Given the description of an element on the screen output the (x, y) to click on. 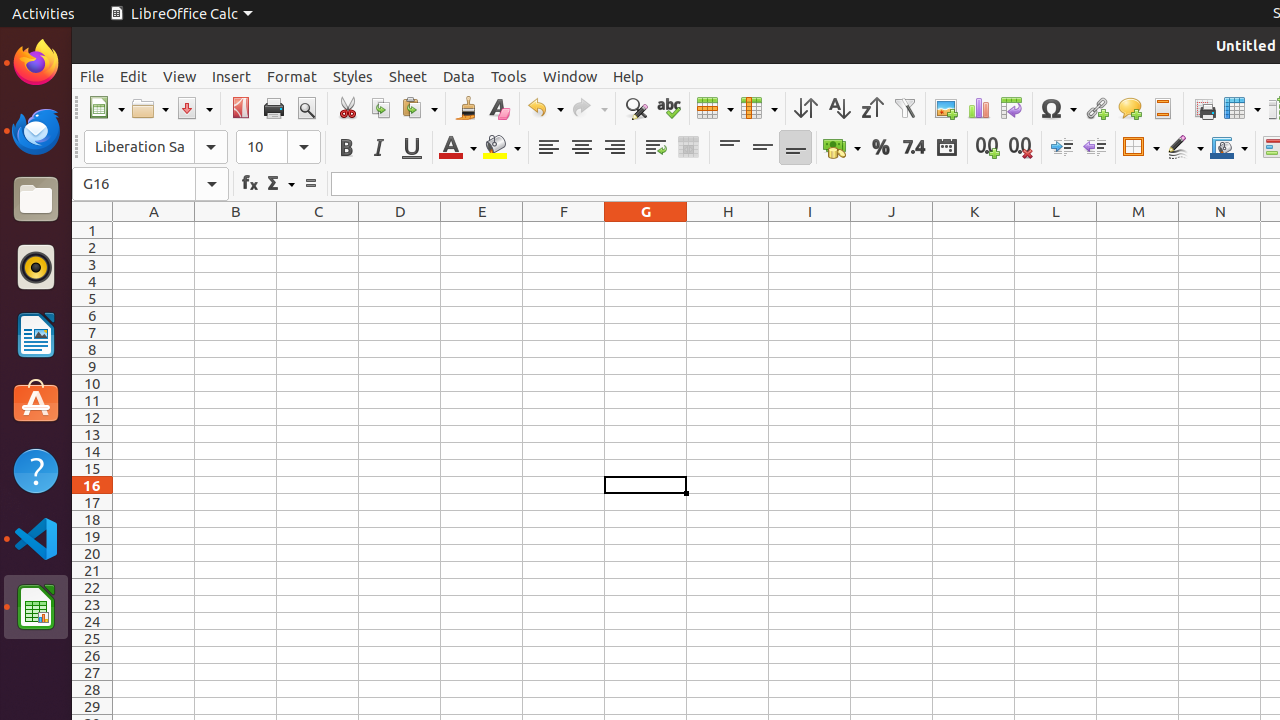
G1 Element type: table-cell (646, 230)
Data Element type: menu (459, 76)
Undo Element type: push-button (545, 108)
Paste Element type: push-button (419, 108)
Tools Element type: menu (509, 76)
